Given the description of an element on the screen output the (x, y) to click on. 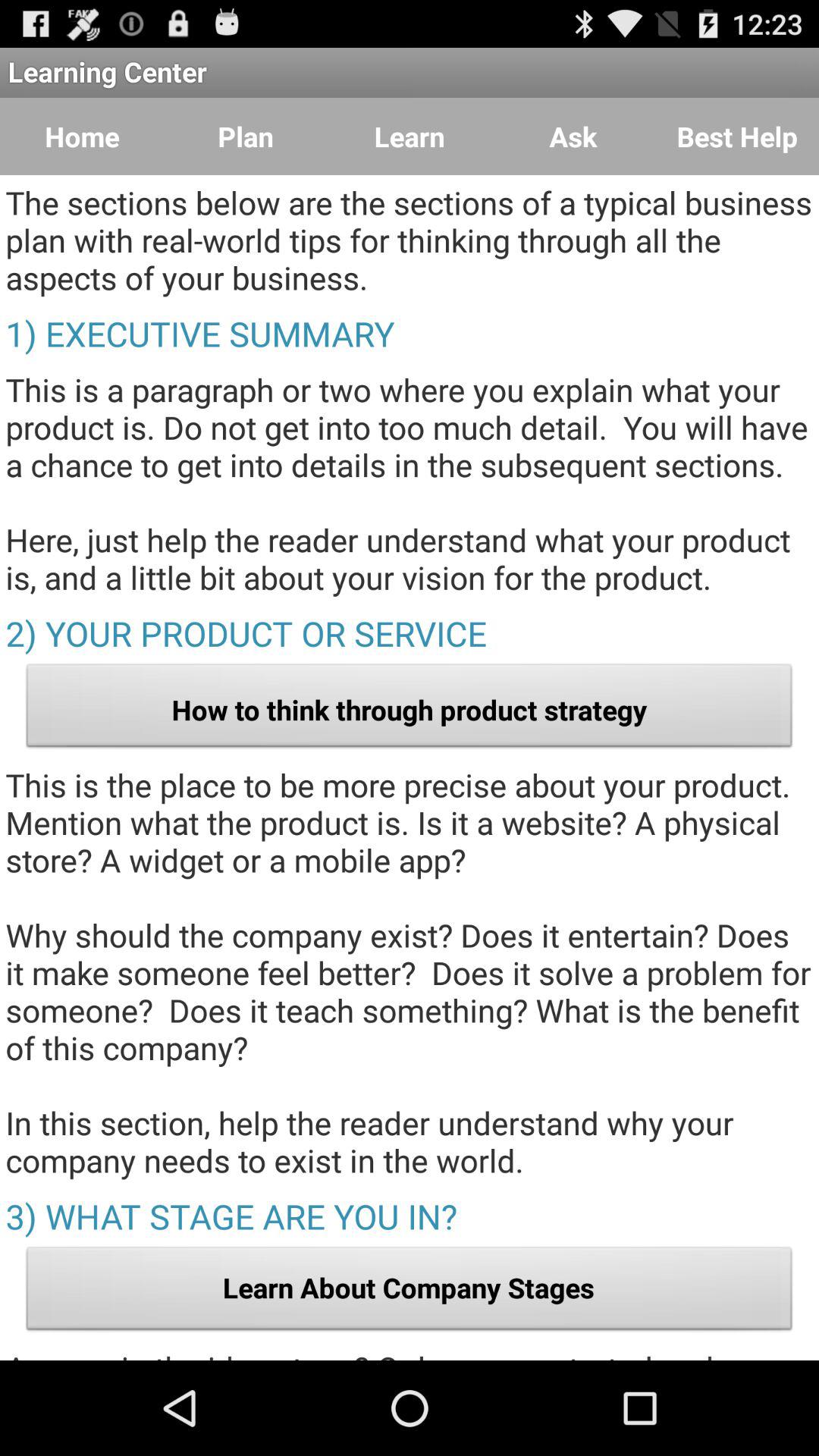
tap the app below the learning center item (81, 136)
